Given the description of an element on the screen output the (x, y) to click on. 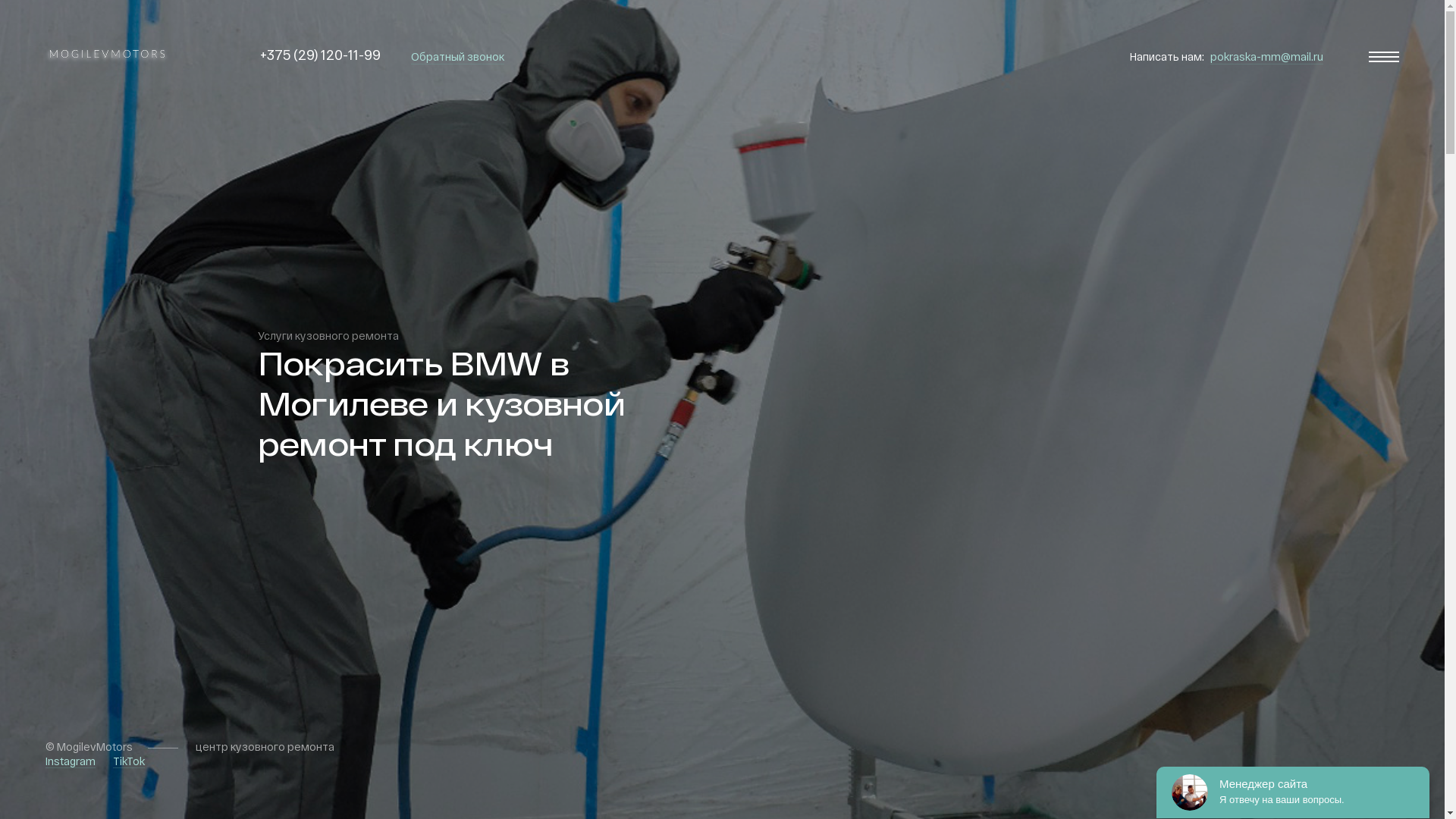
Instagram Element type: text (70, 761)
pokraska-mm@mail.ru Element type: text (1266, 57)
TikTok Element type: text (128, 761)
+375 (29) 120-11-99 Element type: text (320, 54)
